Given the description of an element on the screen output the (x, y) to click on. 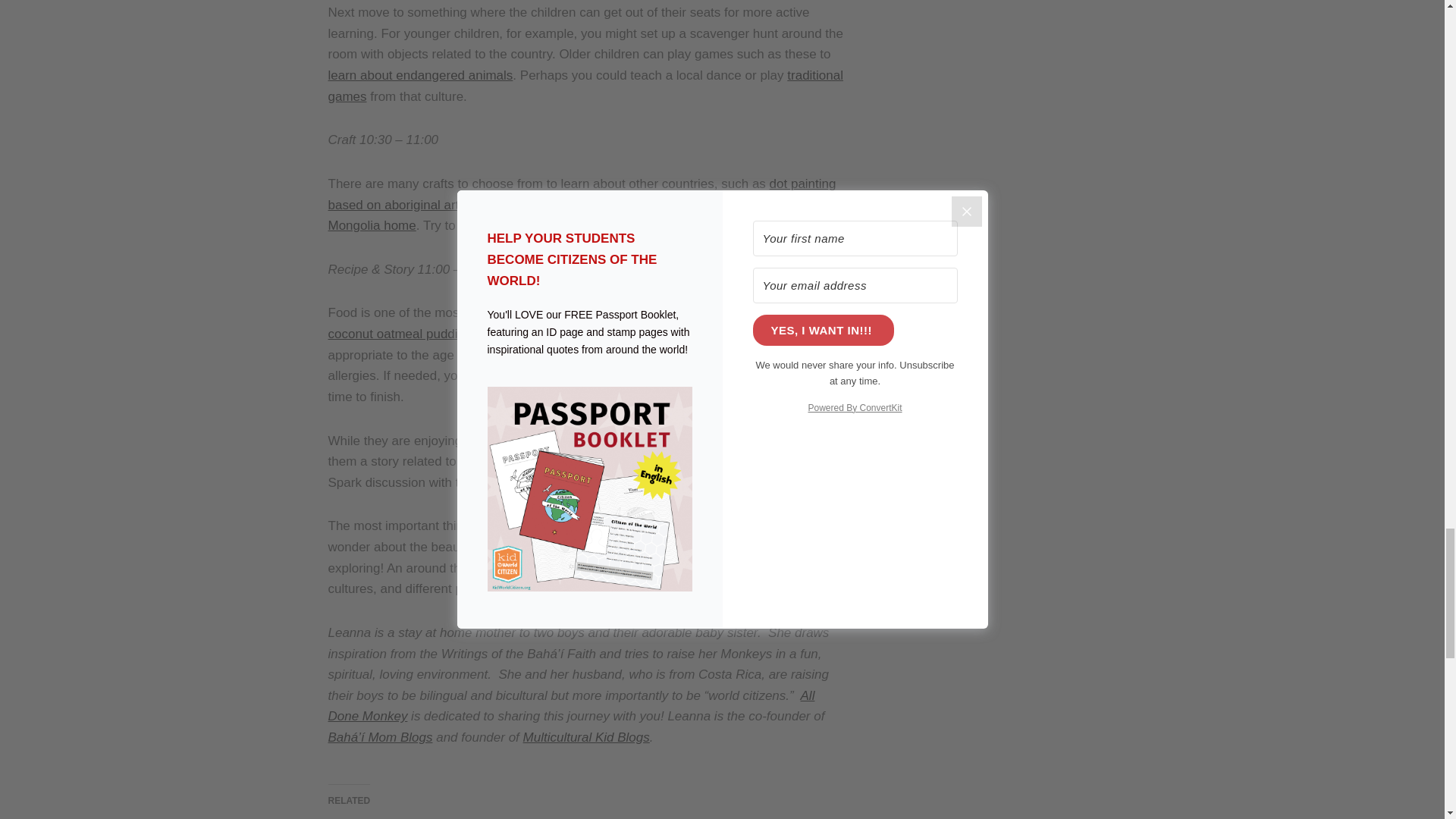
Baha'i Mom Blogs (379, 737)
Multicultural Kid Blogs (585, 737)
